Given the description of an element on the screen output the (x, y) to click on. 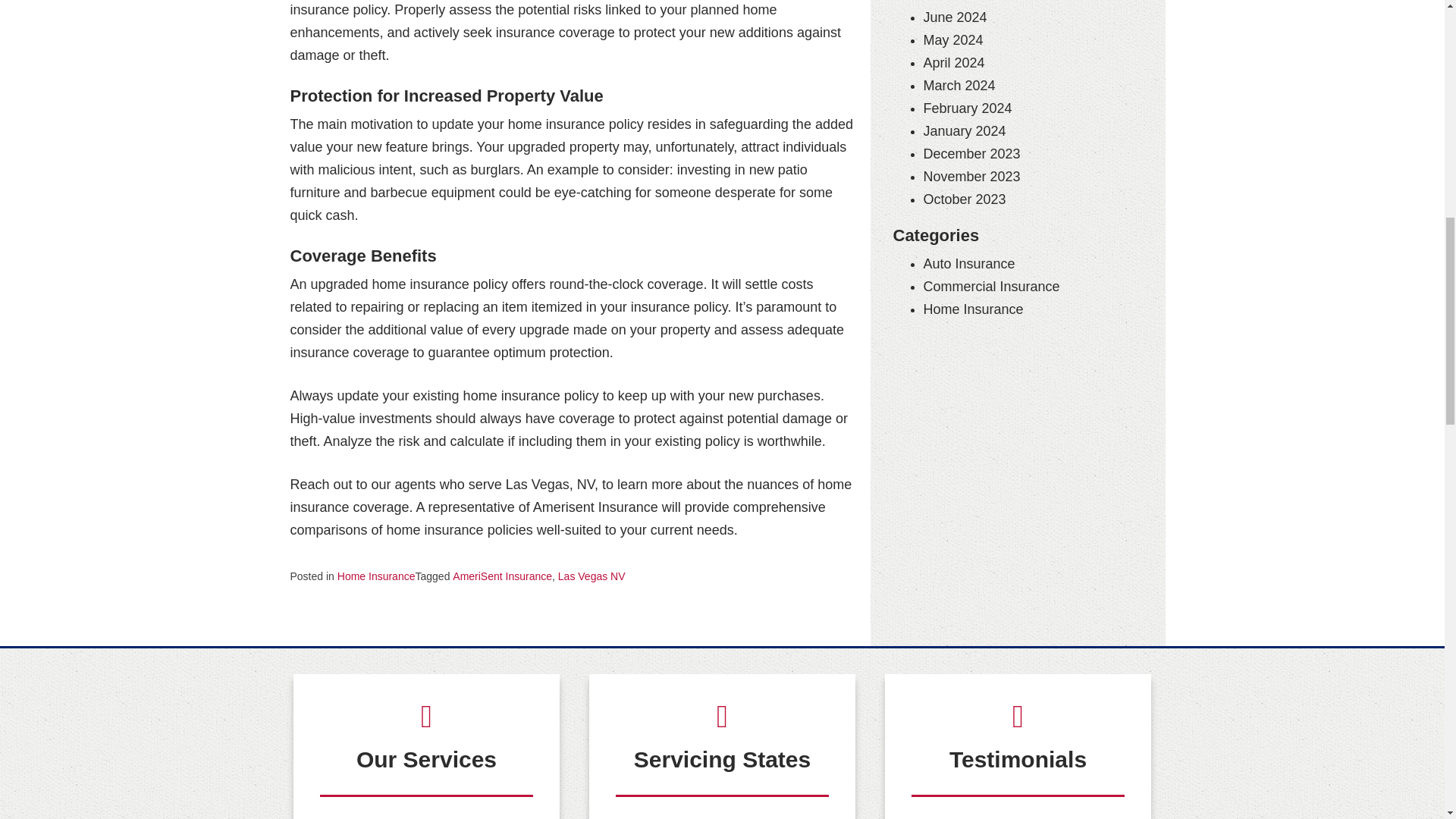
Home Insurance (375, 576)
AmeriSent Insurance (501, 576)
